Given the description of an element on the screen output the (x, y) to click on. 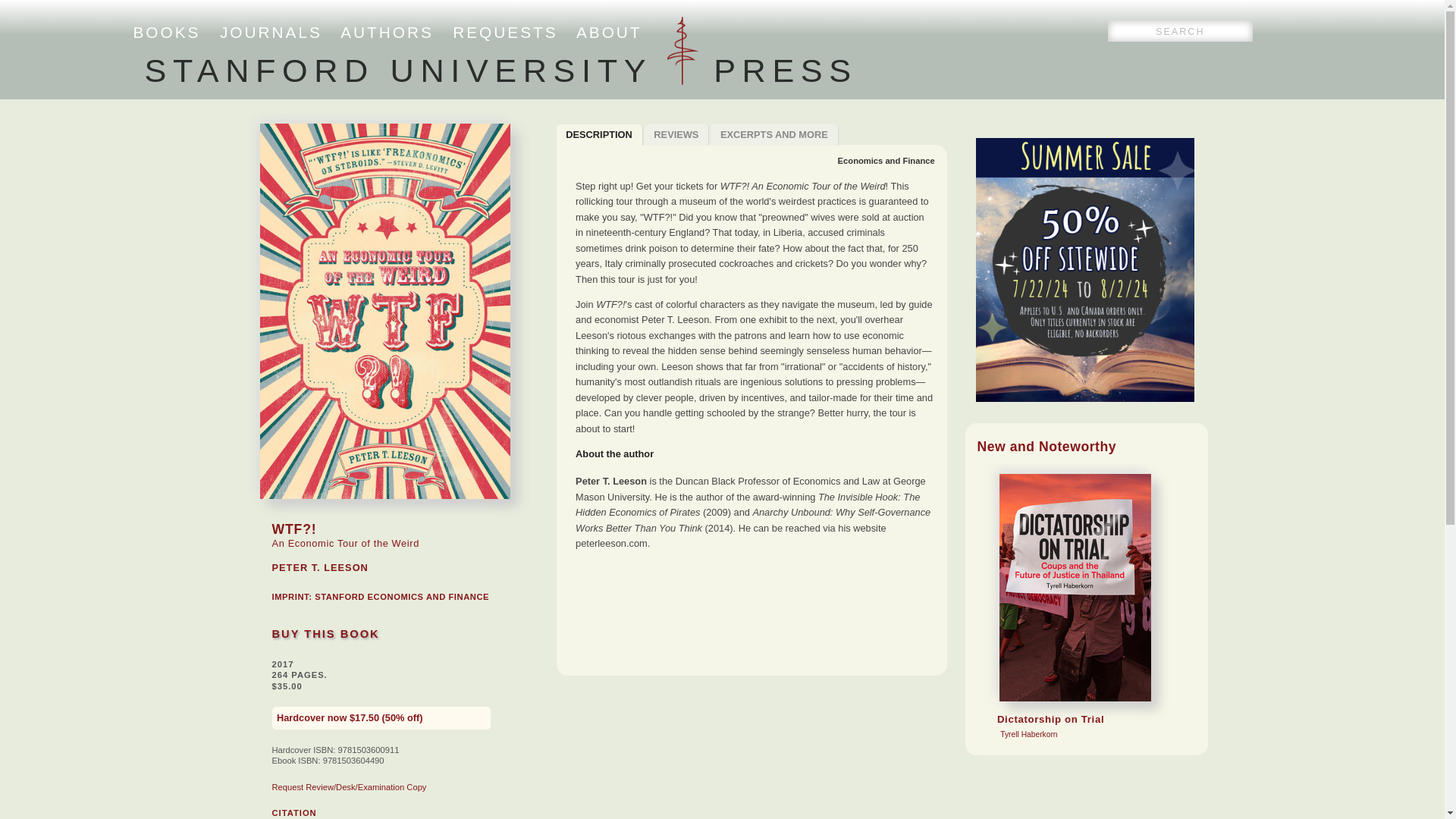
BUY THIS BOOK (324, 633)
ABOUT (609, 31)
DESCRIPTION (599, 134)
New and Noteworthy (1046, 446)
STANFORD UNIVERSITY PRESS (774, 134)
STANFORD ECONOMICS AND FINANCE (500, 70)
BOOKS (401, 596)
CITATION (166, 31)
AUTHORS (292, 812)
Economics and Finance (386, 31)
REVIEWS (886, 160)
REQUESTS (677, 134)
JOURNALS (504, 31)
